Given the description of an element on the screen output the (x, y) to click on. 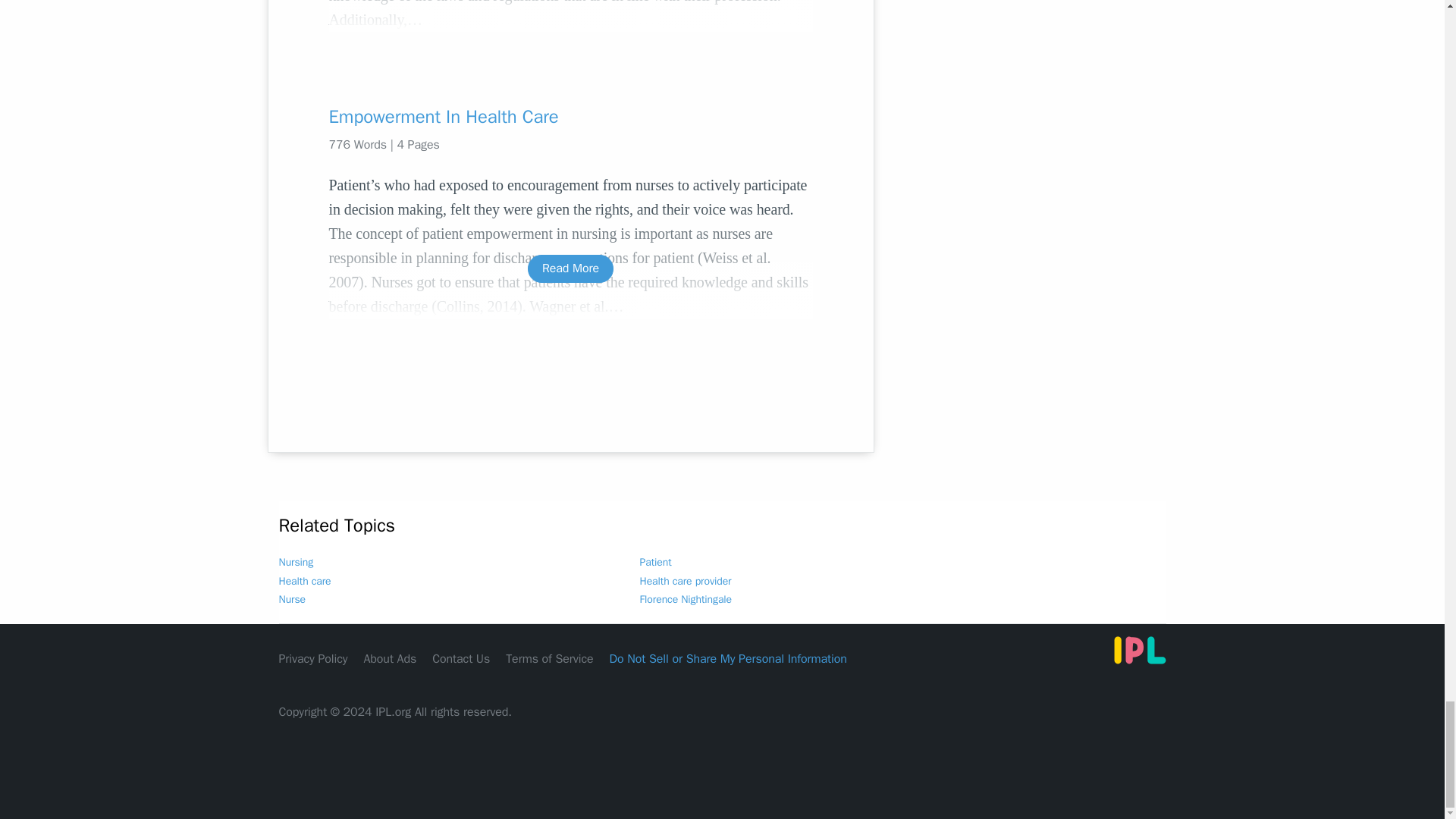
About Ads (389, 658)
Nursing (296, 562)
Patient (655, 562)
Nurse (292, 599)
Health care (305, 581)
Health care provider (686, 581)
Florence Nightingale (686, 599)
Contact Us (460, 658)
Privacy Policy (313, 658)
Terms of Service (548, 658)
